Given the description of an element on the screen output the (x, y) to click on. 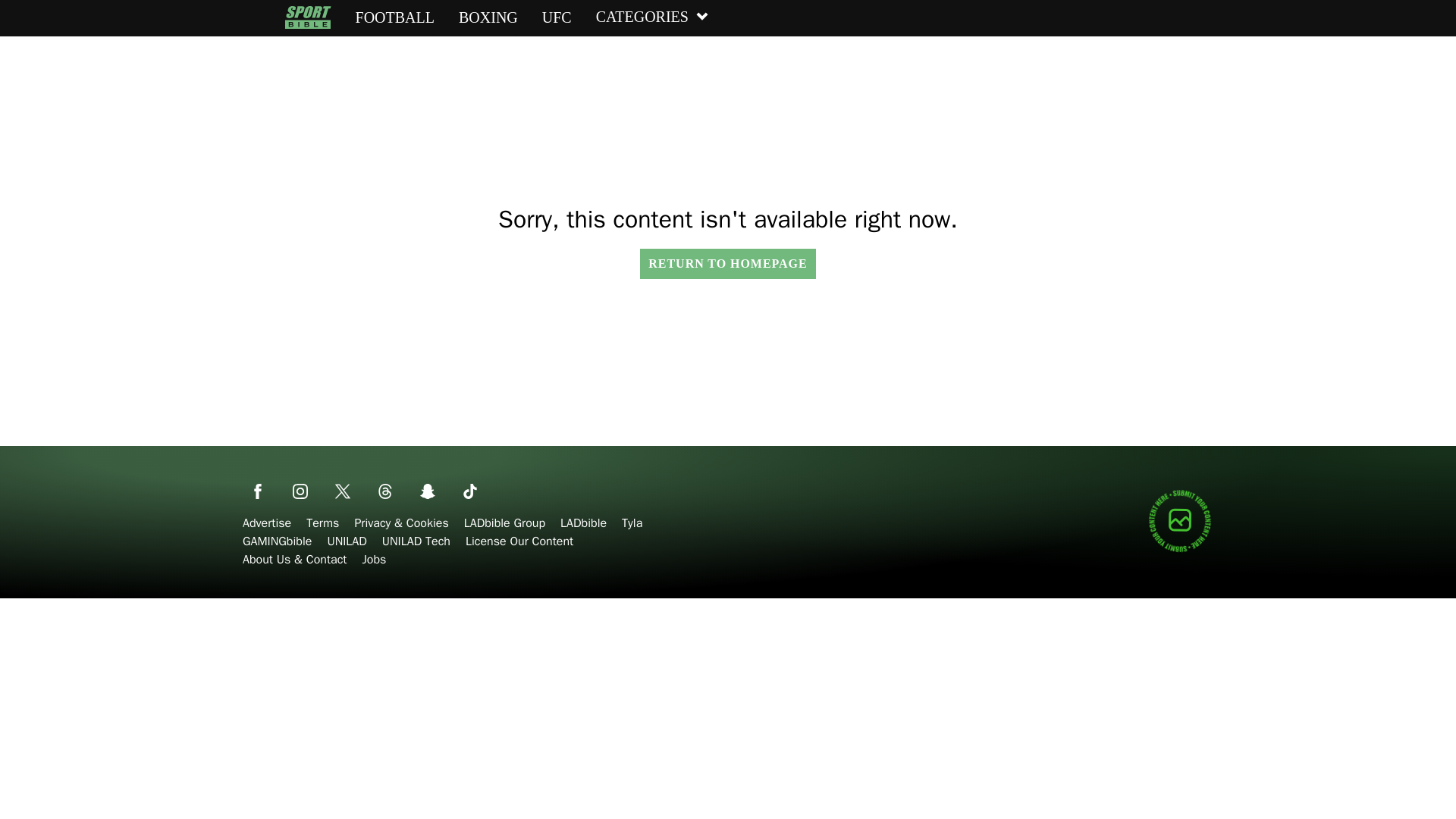
FOOTBALL (394, 17)
UFC (556, 17)
BOXING (488, 17)
